Given the description of an element on the screen output the (x, y) to click on. 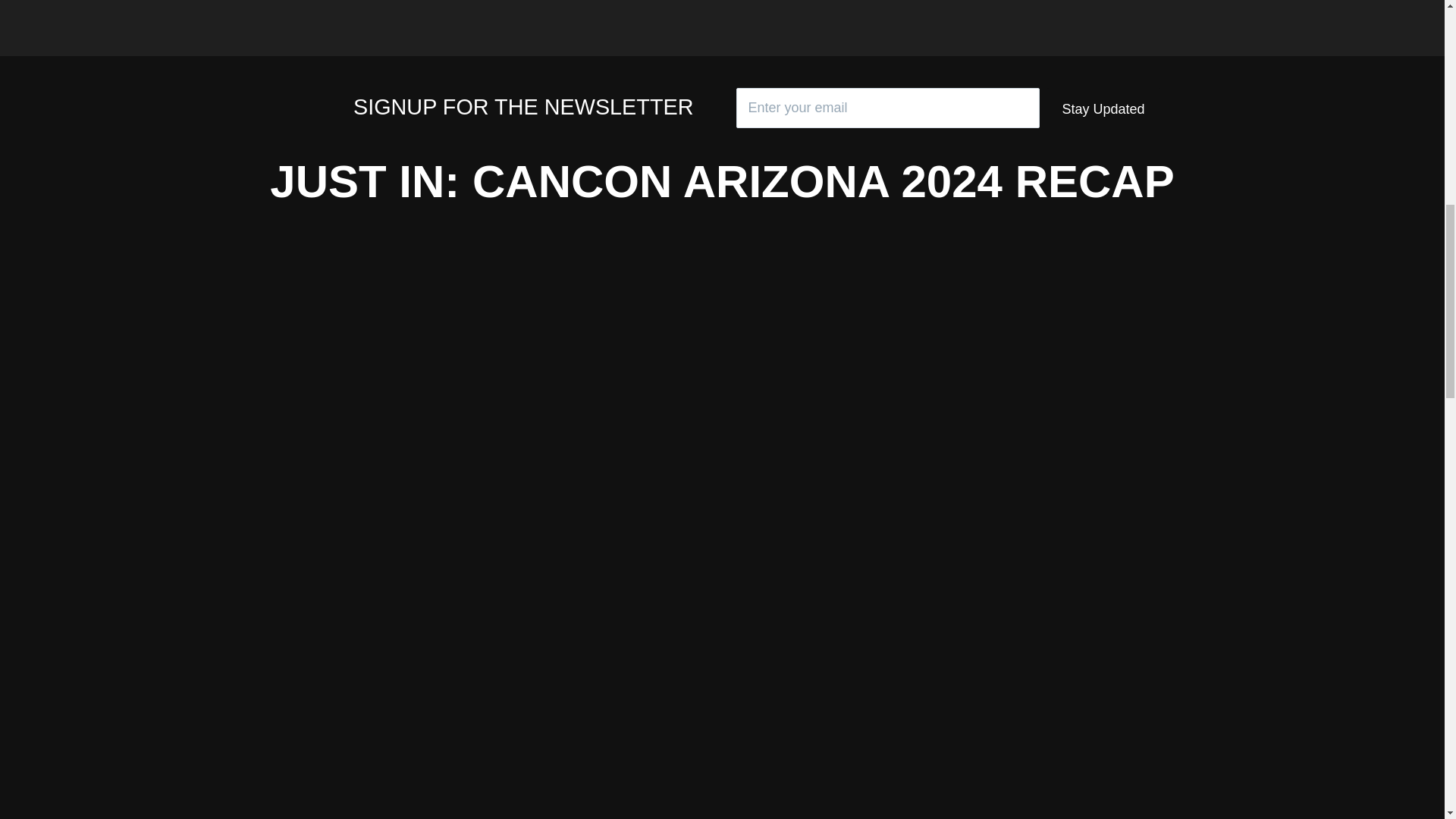
Stay Updated (1102, 109)
